Given the description of an element on the screen output the (x, y) to click on. 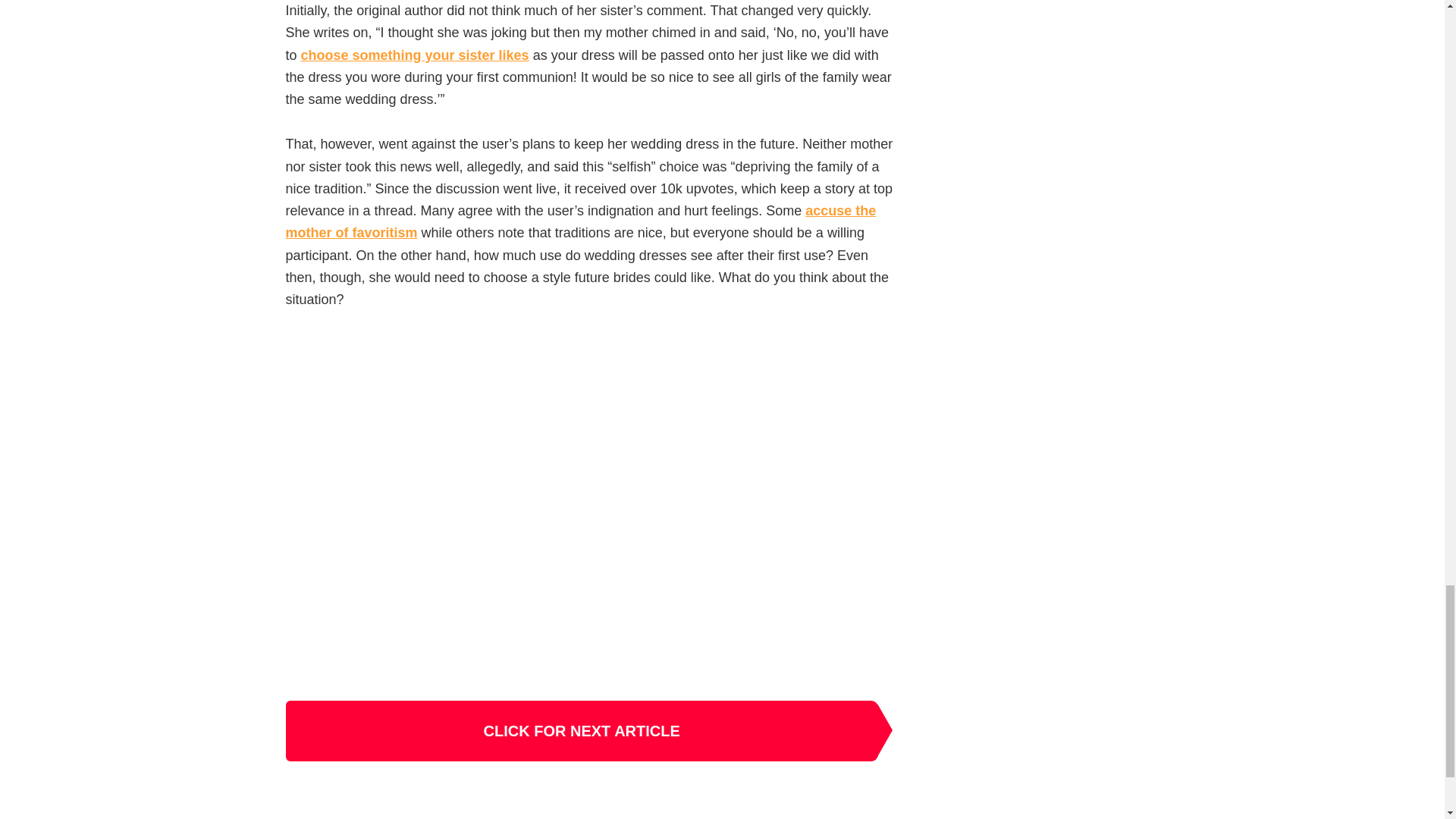
choose something your sister likes (415, 55)
accuse the mother of favoritism (580, 221)
